Given the description of an element on the screen output the (x, y) to click on. 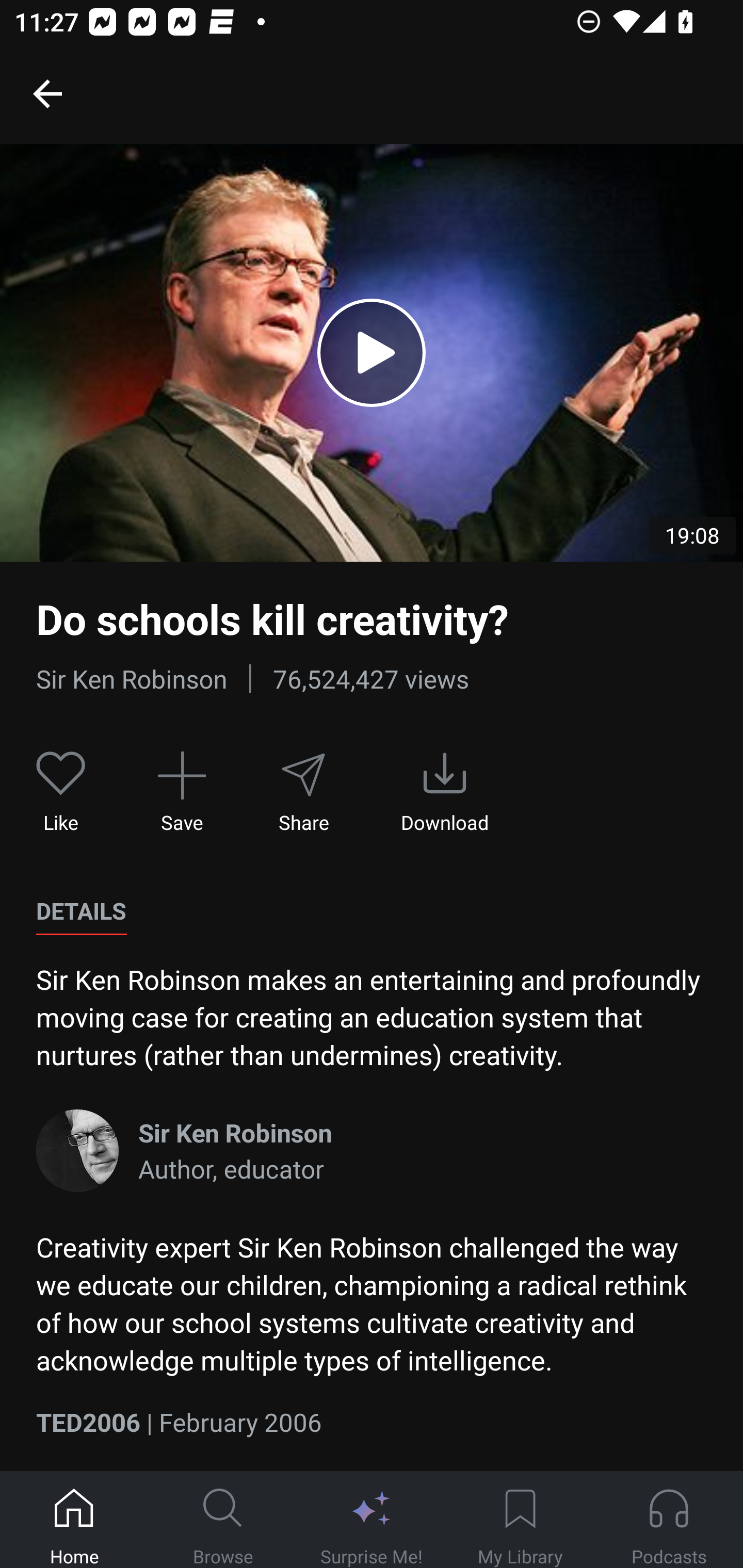
Go back (47, 92)
Like (60, 793)
Save (181, 793)
Share (302, 793)
Download (444, 793)
DETAILS (80, 911)
Home (74, 1520)
Browse (222, 1520)
Surprise Me! (371, 1520)
My Library (519, 1520)
Podcasts (668, 1520)
